Given the description of an element on the screen output the (x, y) to click on. 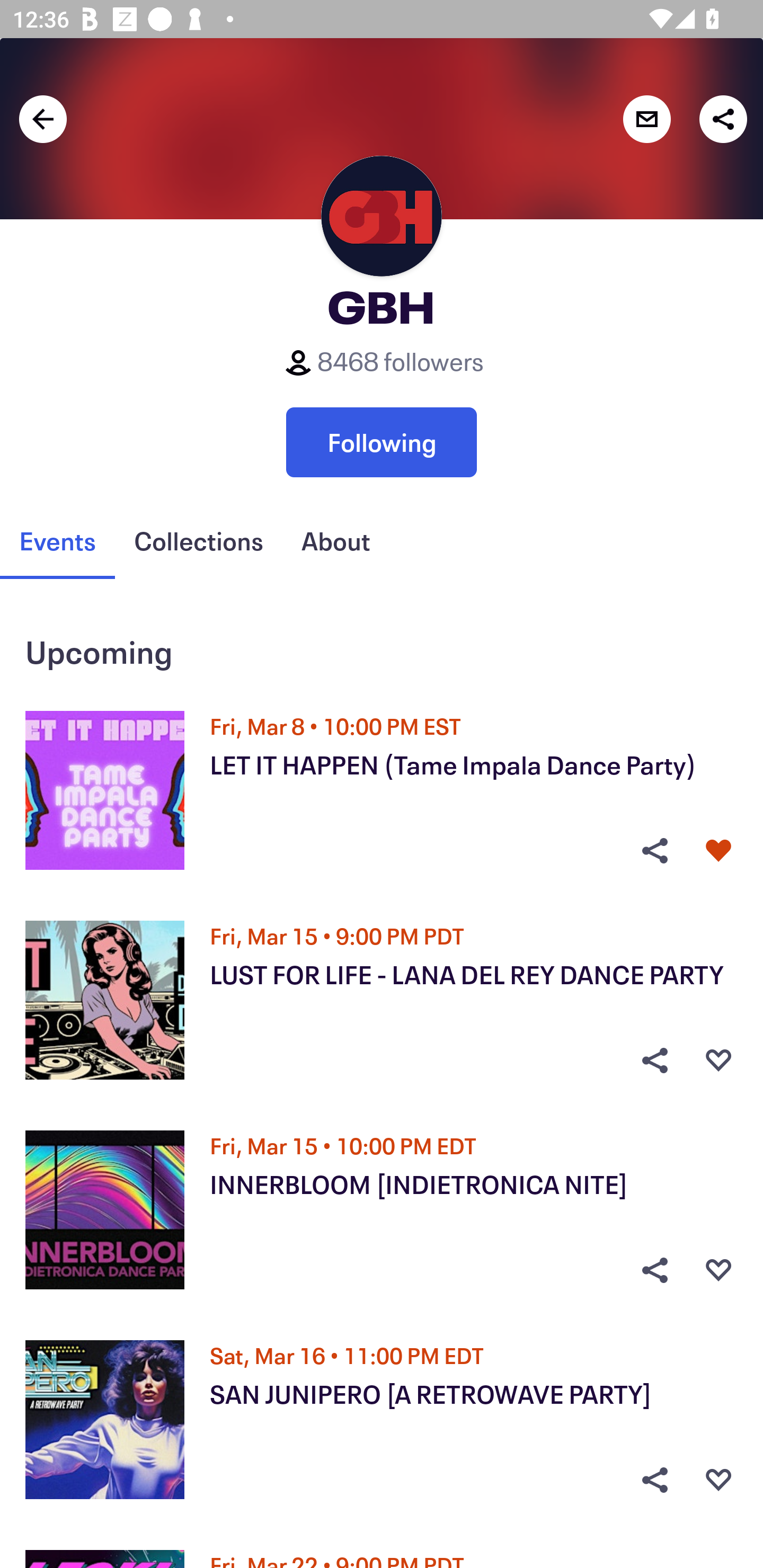
Back navigation arrow (43, 118)
Contact organizer (646, 118)
Share with friends (722, 118)
Following (381, 441)
Collections (198, 540)
About (335, 540)
Share Event (654, 850)
Like event (718, 850)
Share Event (654, 1060)
Like event (718, 1060)
Share Event (654, 1269)
Like event (718, 1269)
Share Event (654, 1480)
Like event (718, 1480)
